Given the description of an element on the screen output the (x, y) to click on. 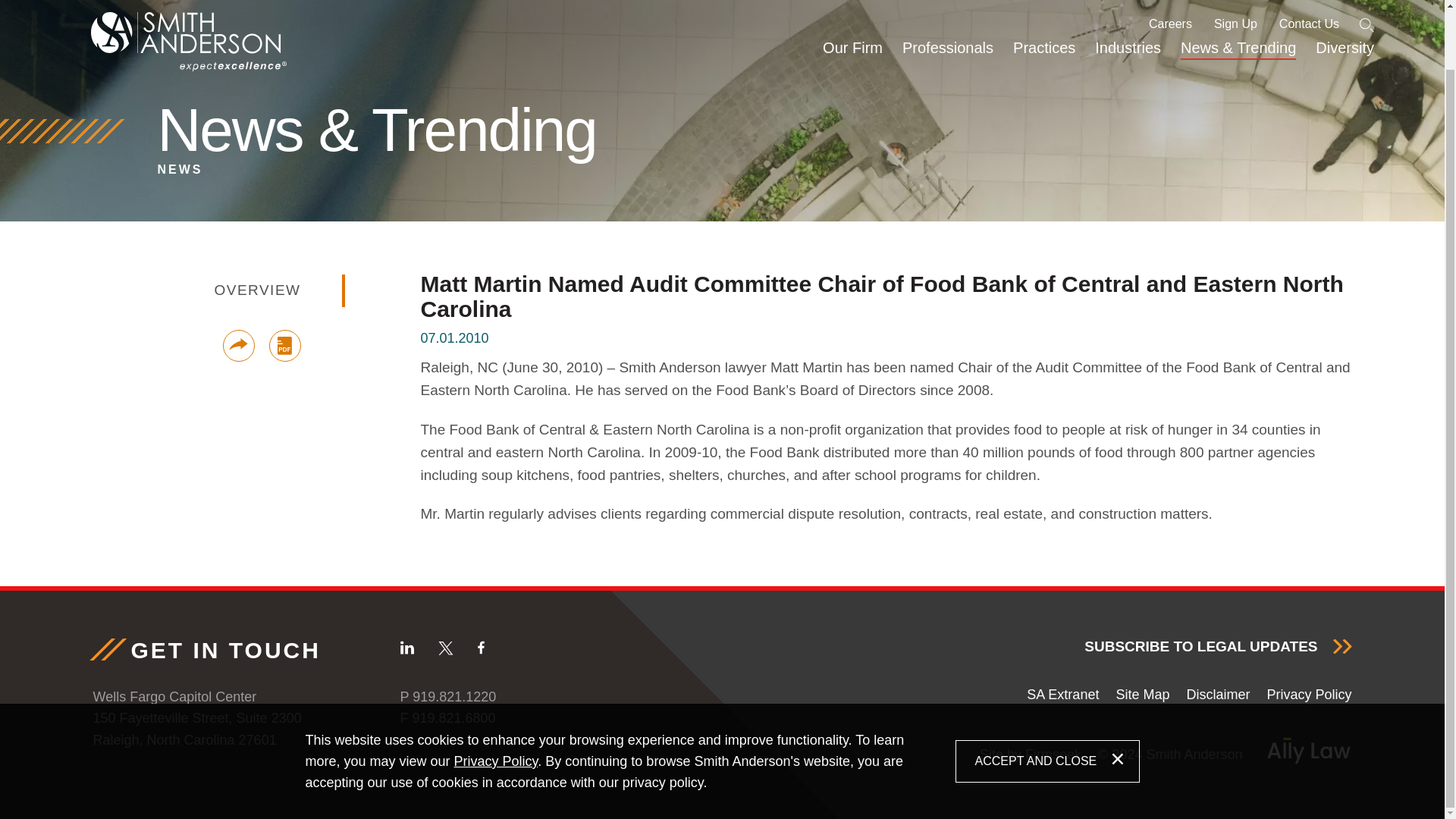
Twitter (445, 648)
Linkedin (406, 647)
Share (238, 345)
Professionals (947, 6)
Our Firm (852, 6)
Print PDF (283, 345)
